Given the description of an element on the screen output the (x, y) to click on. 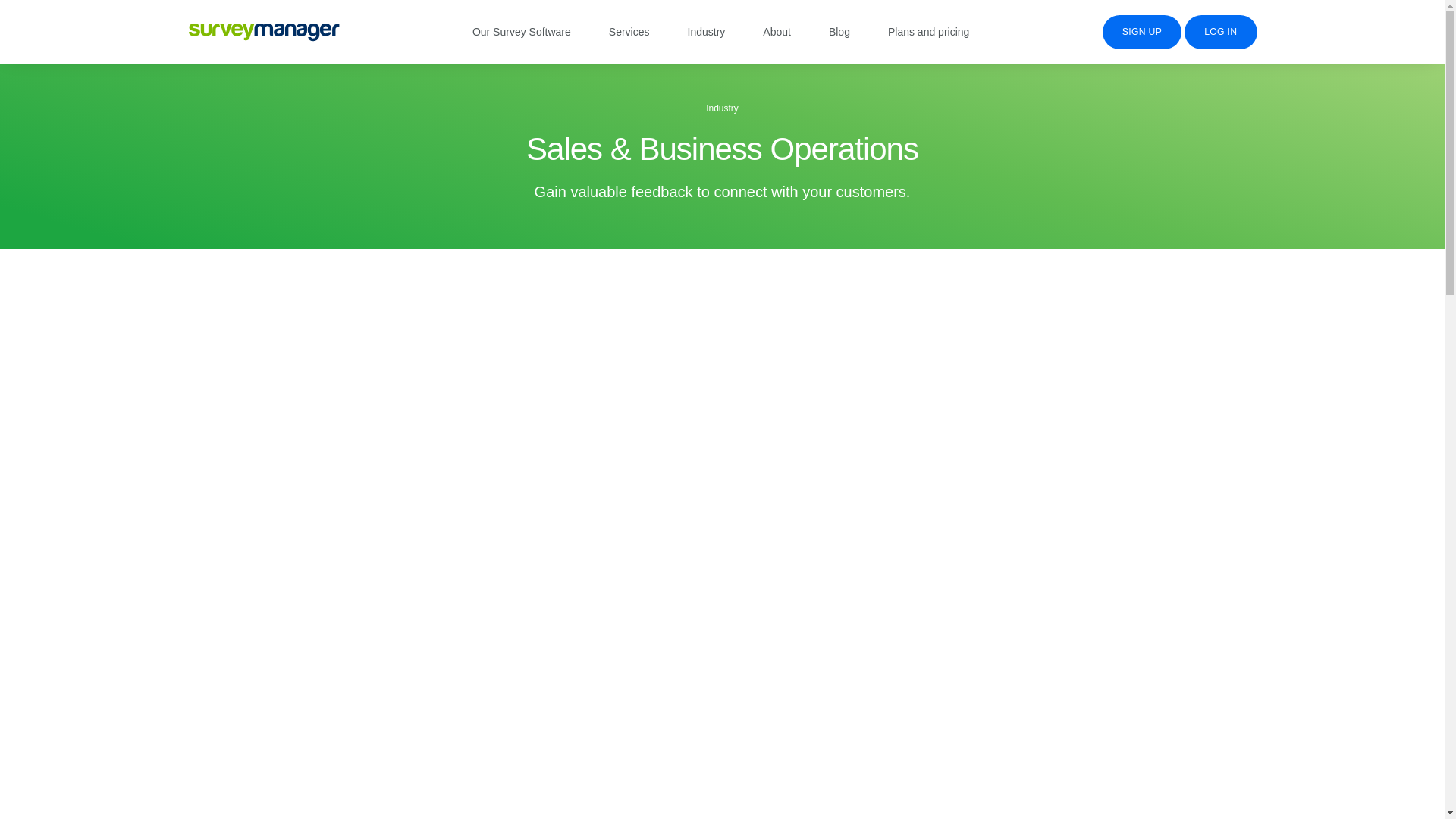
Services (628, 31)
Industry (706, 31)
Blog (839, 31)
Plans and pricing (928, 31)
SIGN UP (1142, 32)
Services (628, 31)
Industry (706, 31)
Survey Manager (263, 32)
Our Survey Software (520, 31)
LOG IN (1220, 32)
